Given the description of an element on the screen output the (x, y) to click on. 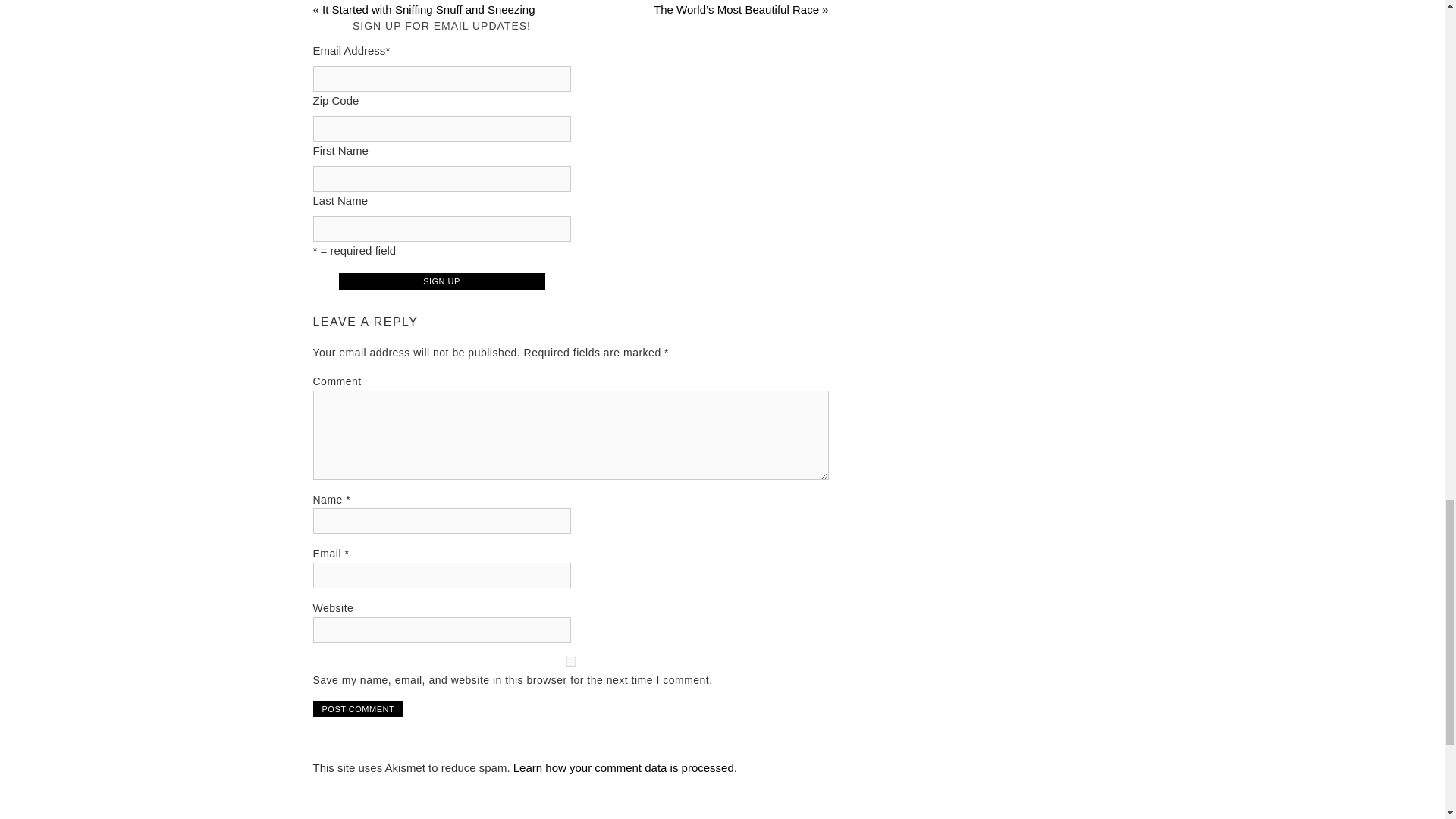
yes (570, 661)
Learn how your comment data is processed (623, 767)
Sign Up (440, 280)
Sign Up (440, 280)
Post Comment (358, 709)
Post Comment (358, 709)
